Given the description of an element on the screen output the (x, y) to click on. 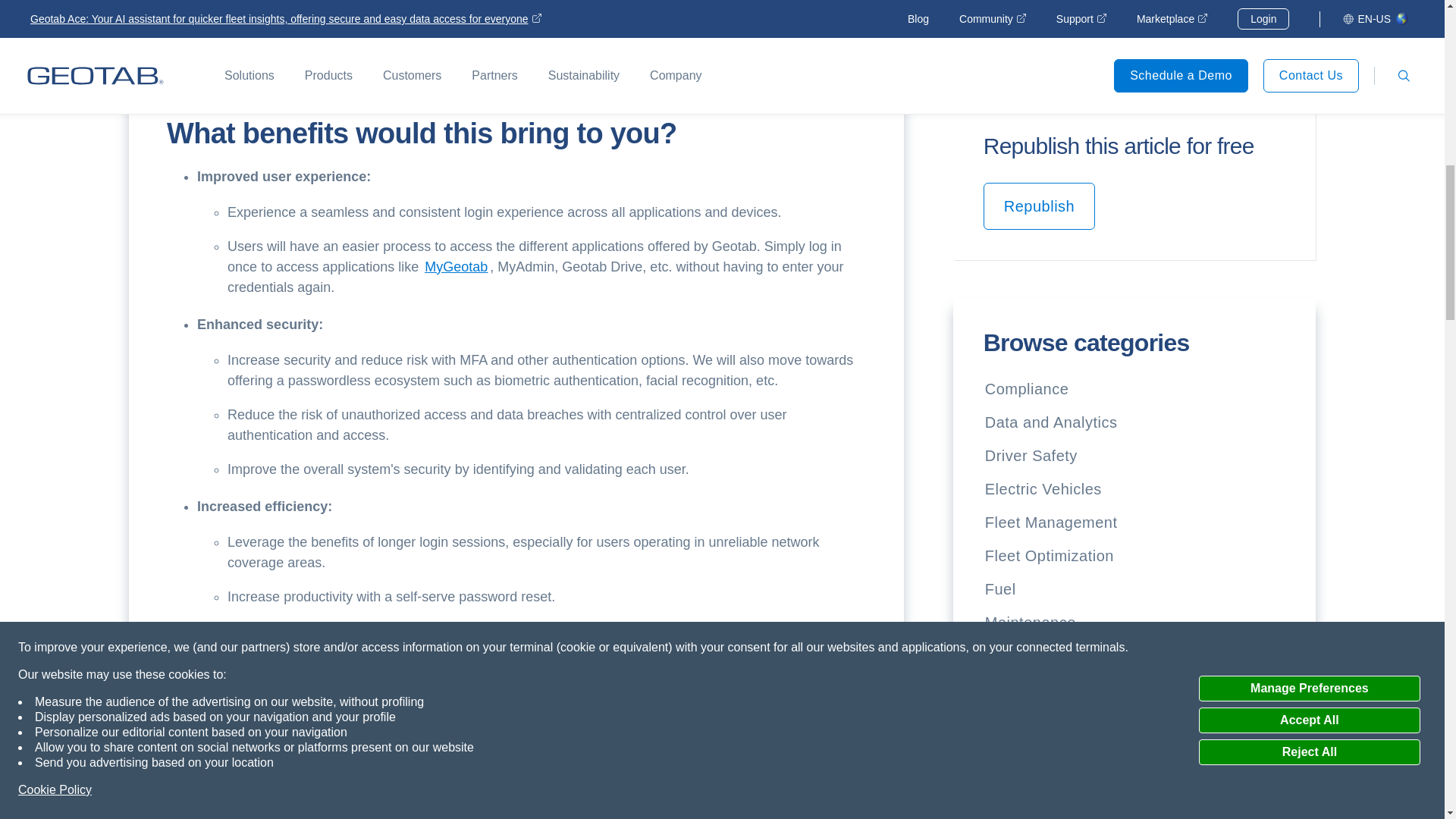
View posts in Compliance. (1026, 388)
View posts in Data and Analytics. (1051, 422)
